Given the description of an element on the screen output the (x, y) to click on. 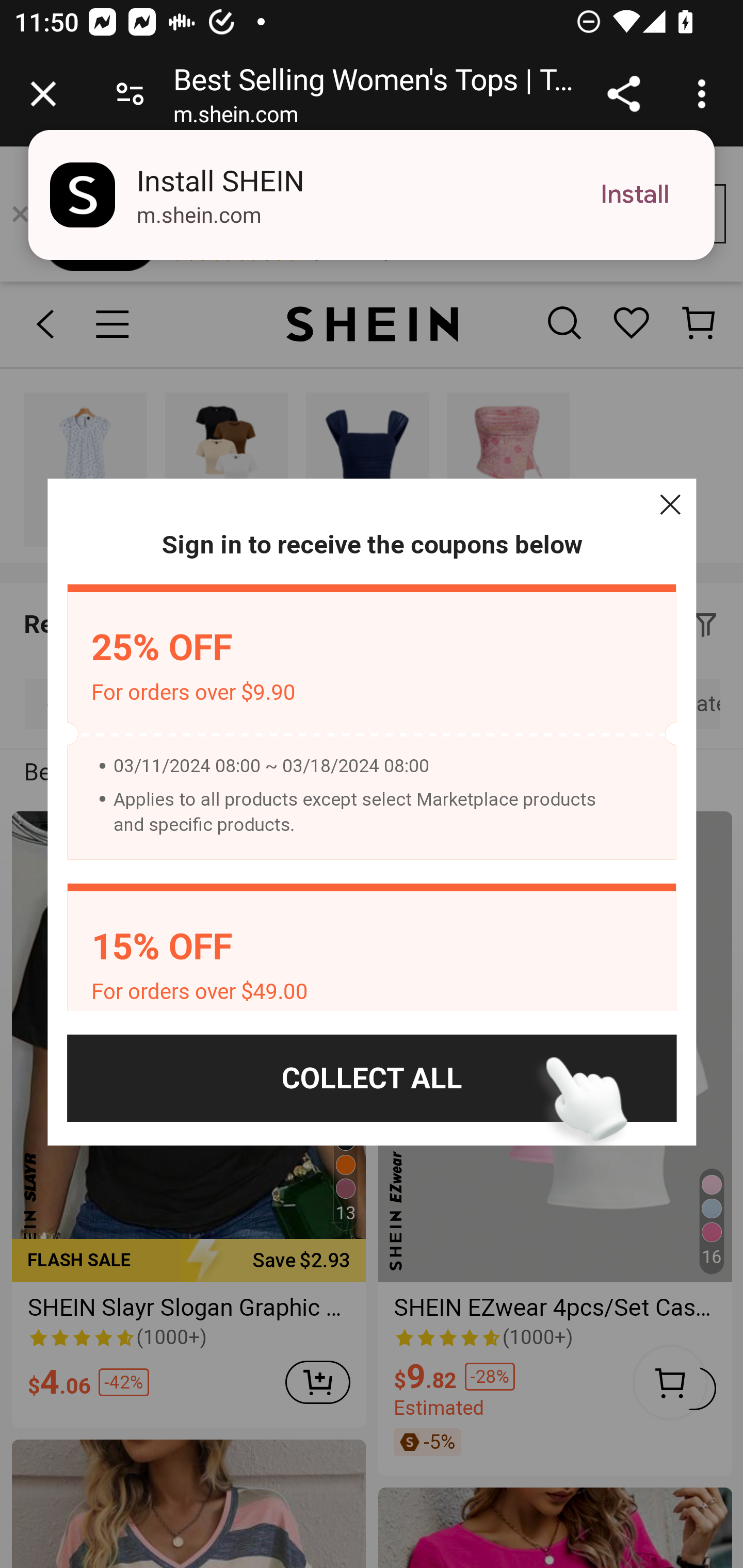
Close tab (43, 93)
Share link address (623, 93)
Customize and control Google Chrome (705, 93)
Connection is secure (129, 93)
m.shein.com (235, 117)
Install (634, 195)
Close (669, 503)
COLLECT ALL (371, 1077)
